Given the description of an element on the screen output the (x, y) to click on. 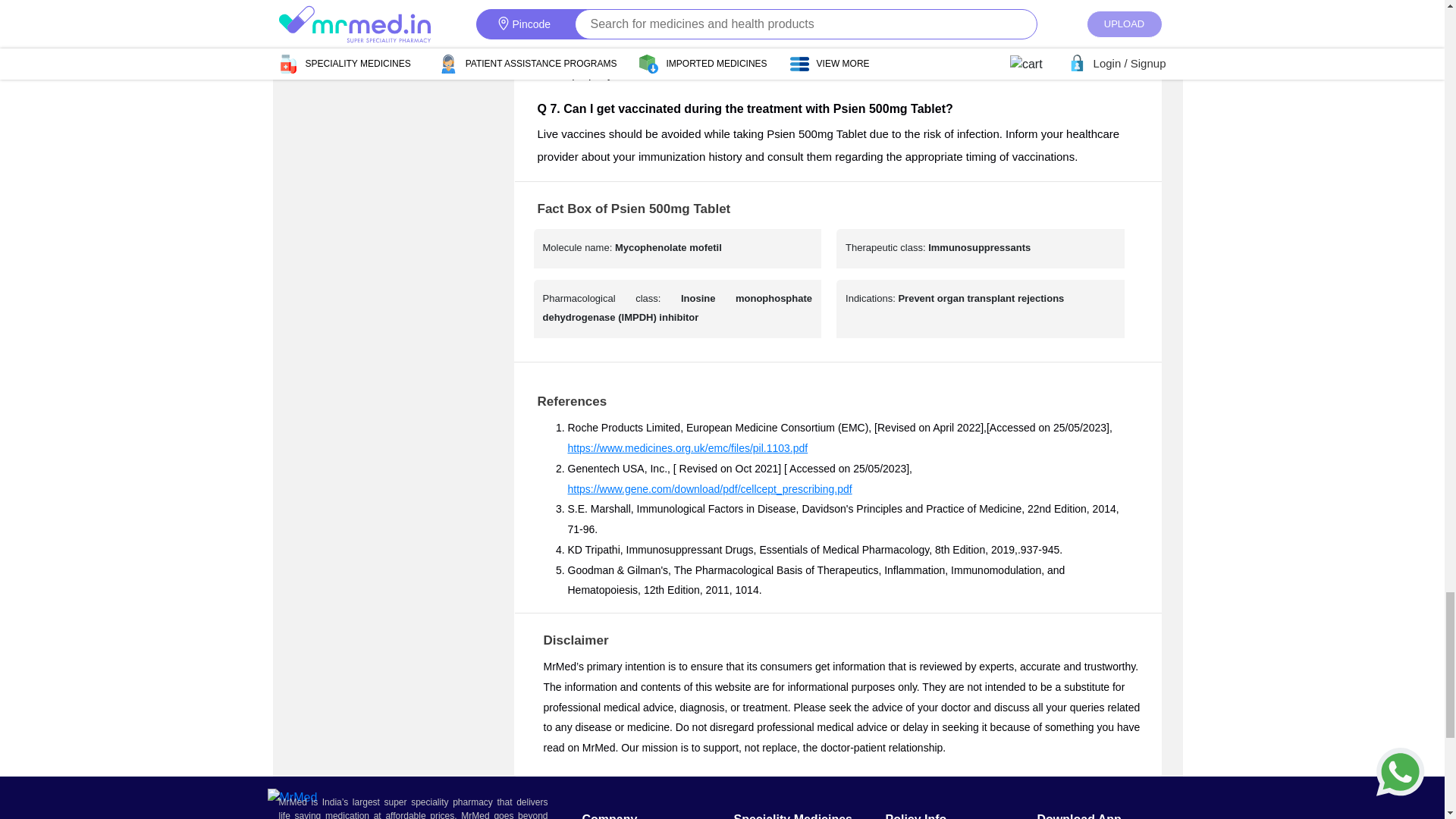
MrMed (291, 797)
